Given the description of an element on the screen output the (x, y) to click on. 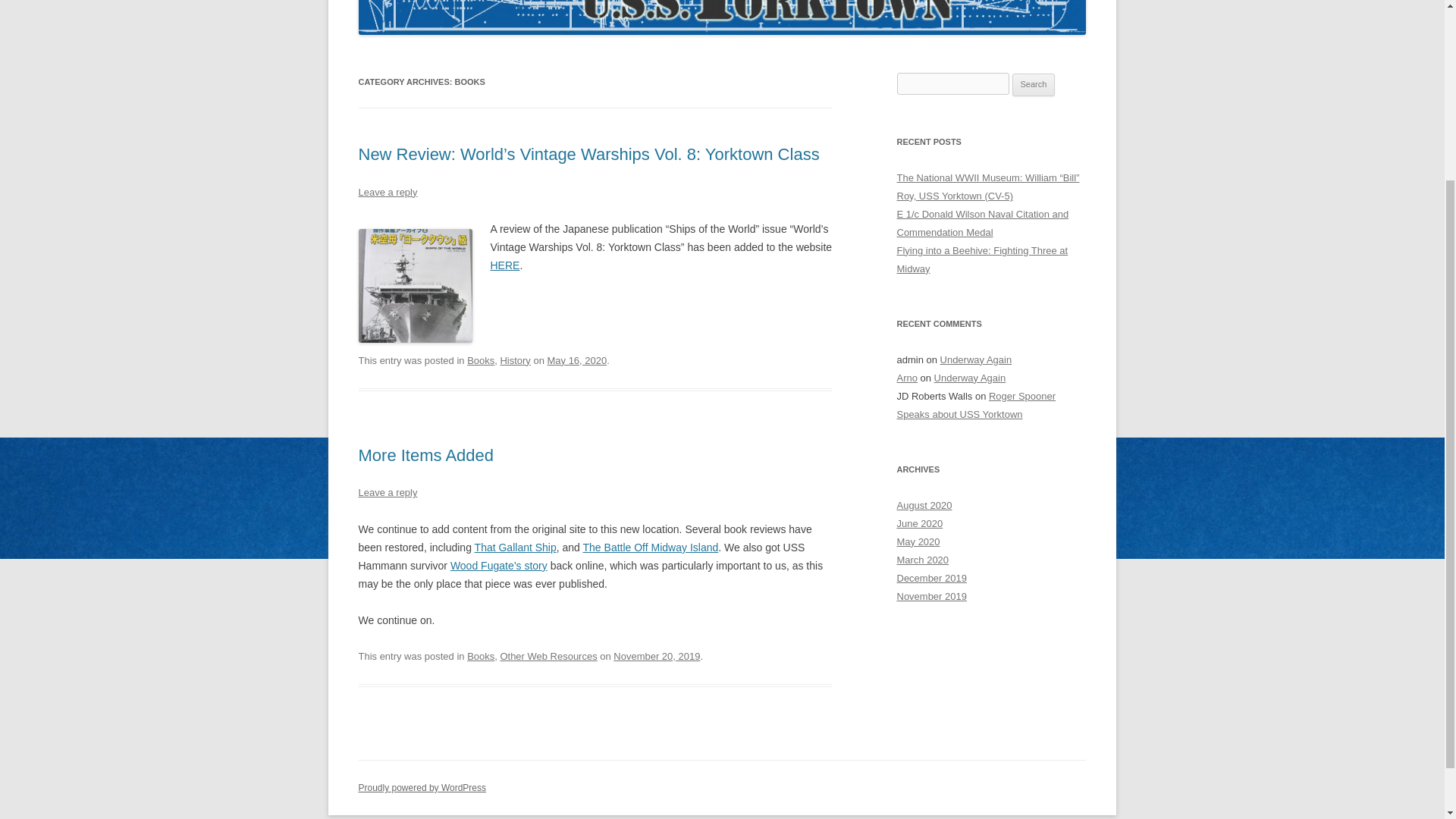
3:53 pm (656, 655)
12:41 pm (577, 360)
Search (1033, 84)
HERE (504, 265)
Leave a reply (387, 192)
Semantic Personal Publishing Platform (422, 787)
